Given the description of an element on the screen output the (x, y) to click on. 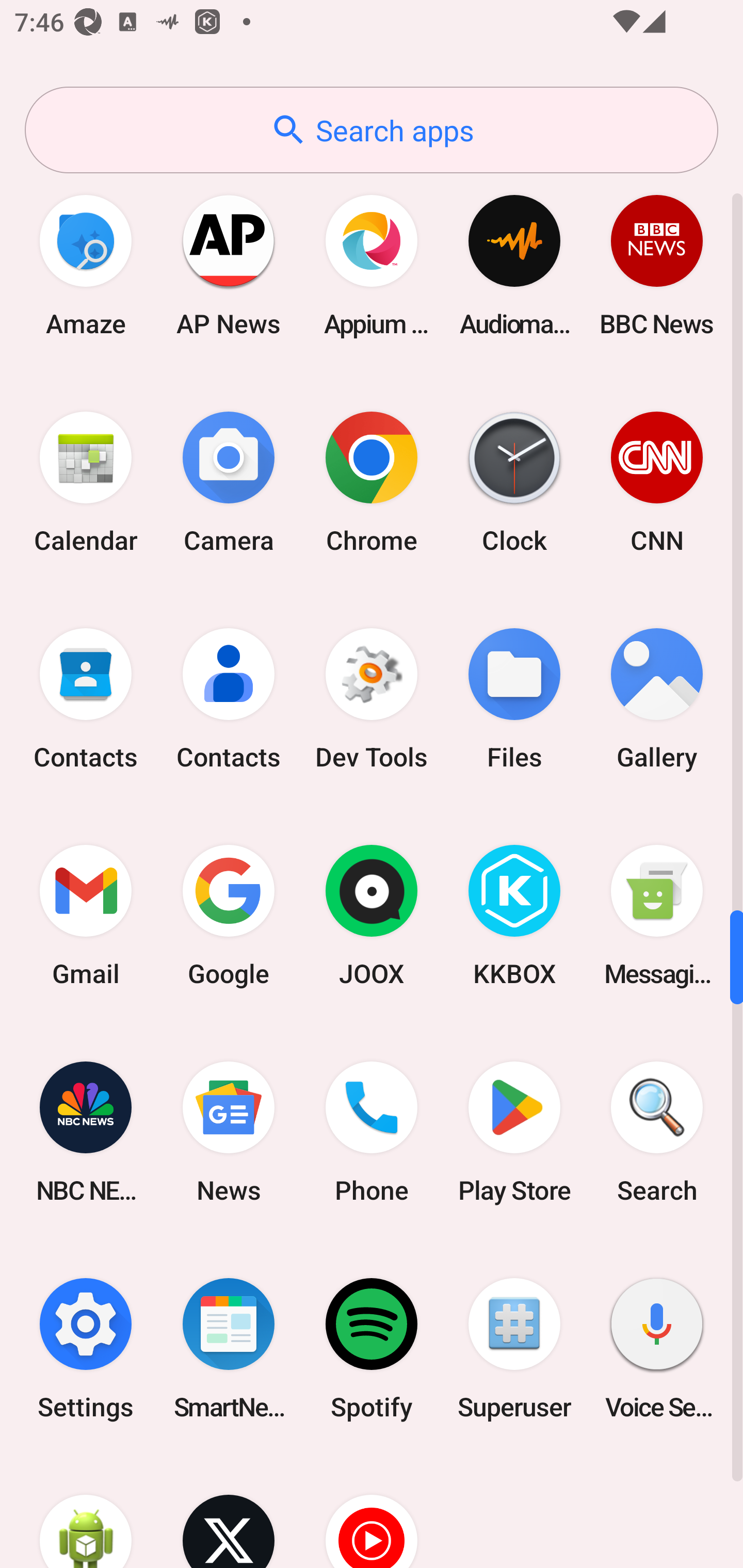
  Search apps (371, 130)
Amaze (85, 264)
AP News (228, 264)
Appium Settings (371, 264)
Audio­mack (514, 264)
BBC News (656, 264)
Calendar (85, 482)
Camera (228, 482)
Chrome (371, 482)
Clock (514, 482)
CNN (656, 482)
Contacts (85, 699)
Contacts (228, 699)
Dev Tools (371, 699)
Files (514, 699)
Gallery (656, 699)
Gmail (85, 915)
Google (228, 915)
JOOX (371, 915)
KKBOX (514, 915)
Messaging (656, 915)
NBC NEWS (85, 1131)
News (228, 1131)
Phone (371, 1131)
Play Store (514, 1131)
Search (656, 1131)
Settings (85, 1348)
SmartNews (228, 1348)
Spotify (371, 1348)
Superuser (514, 1348)
Voice Search (656, 1348)
